Given the description of an element on the screen output the (x, y) to click on. 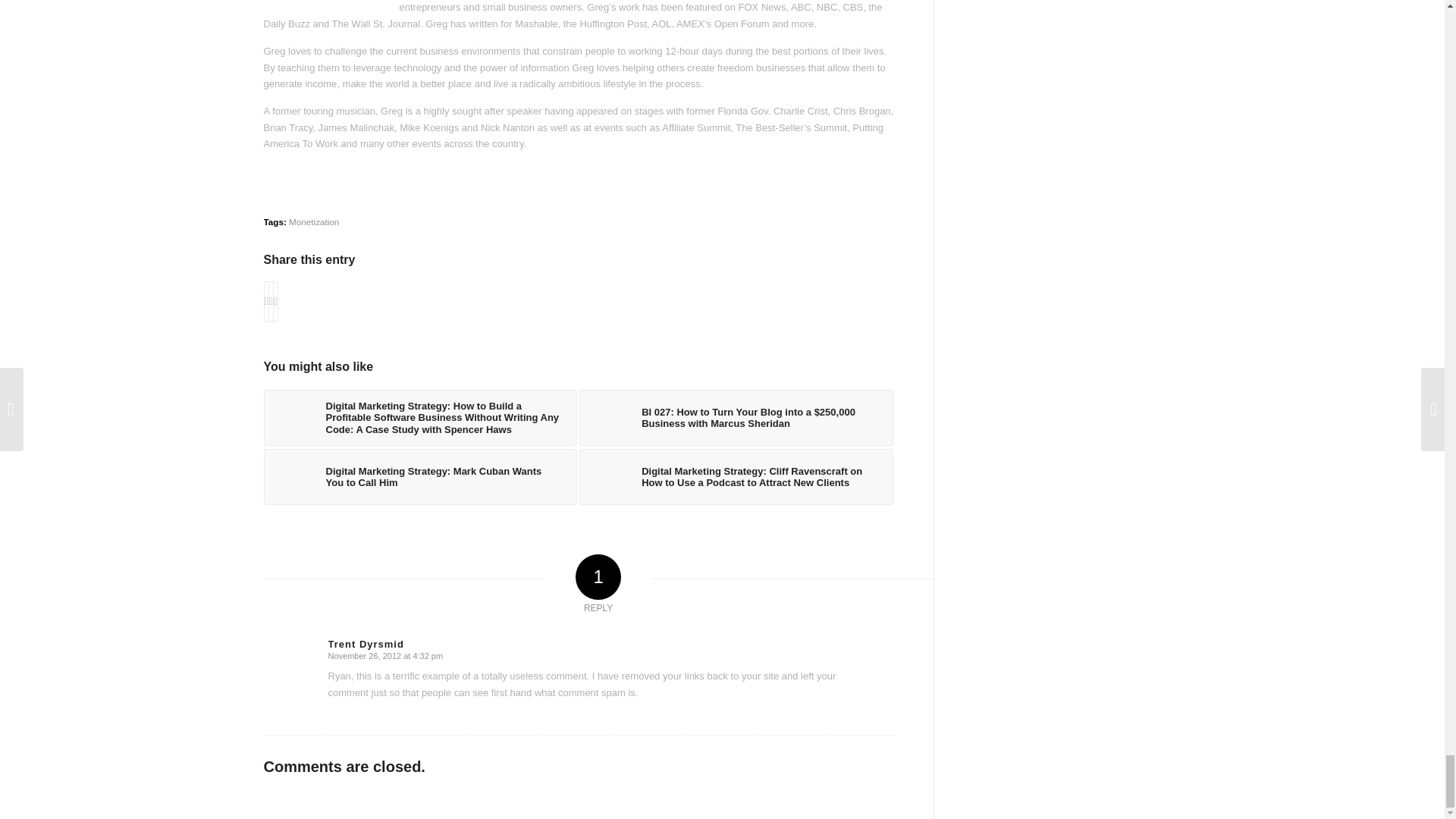
Cliff (607, 476)
dan (290, 476)
Monetization (313, 221)
November 26, 2012 at 4:32 pm (384, 655)
Spencer (290, 417)
Digital Marketing Strategy: Mark Cuban Wants You to Call Him (420, 476)
Marcus Sheridan (607, 417)
Digital Marketing Strategy: Mark Cuban Wants You to Call Him (420, 476)
GregRollettHS (327, 5)
